Given the description of an element on the screen output the (x, y) to click on. 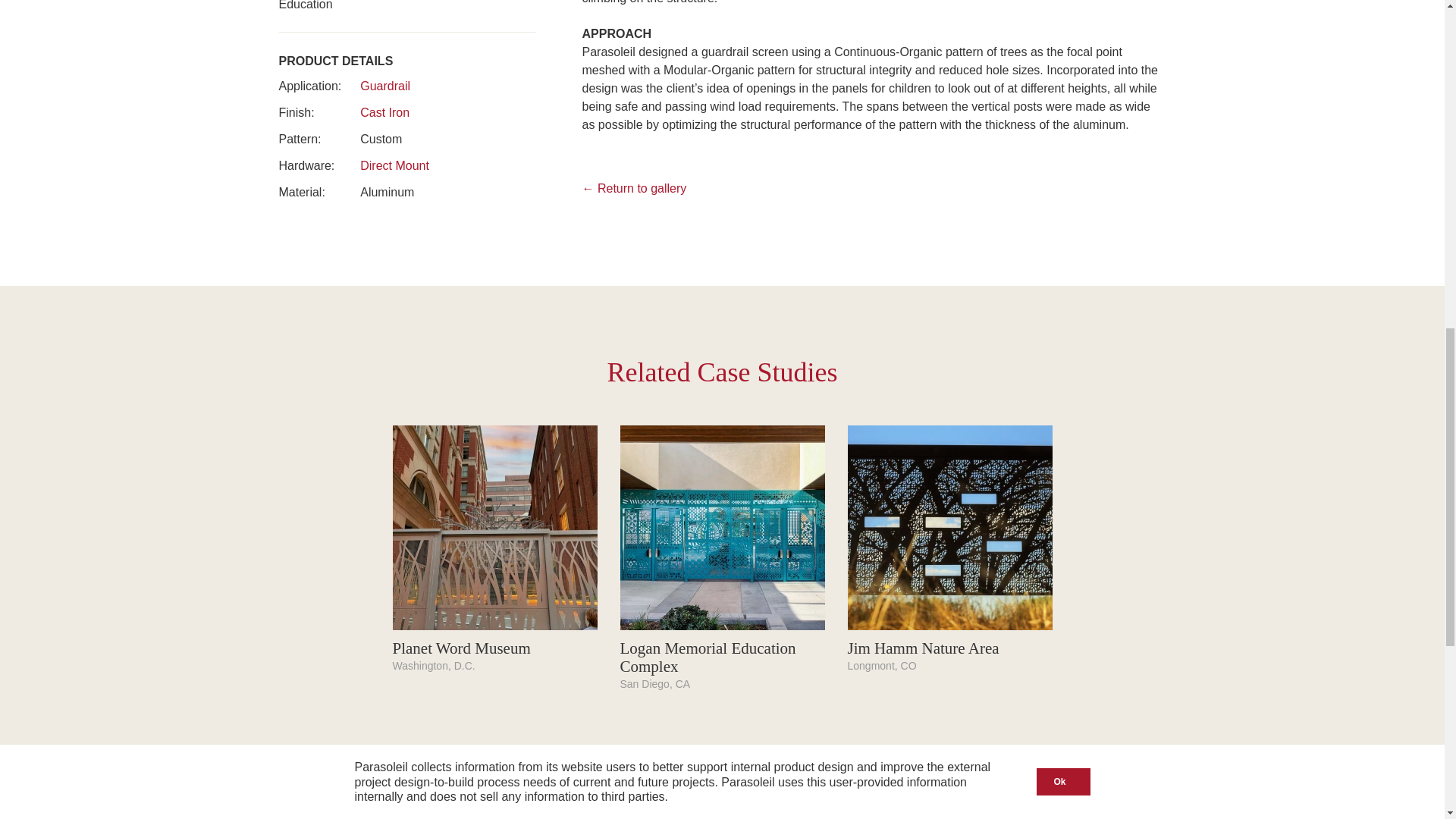
Direct Mount (394, 164)
Jim Hamm Nature Area (922, 648)
Planet Word Museum (462, 648)
Logan Memorial Education Complex (708, 657)
Cast Iron (384, 112)
Guardrail (384, 85)
